Given the description of an element on the screen output the (x, y) to click on. 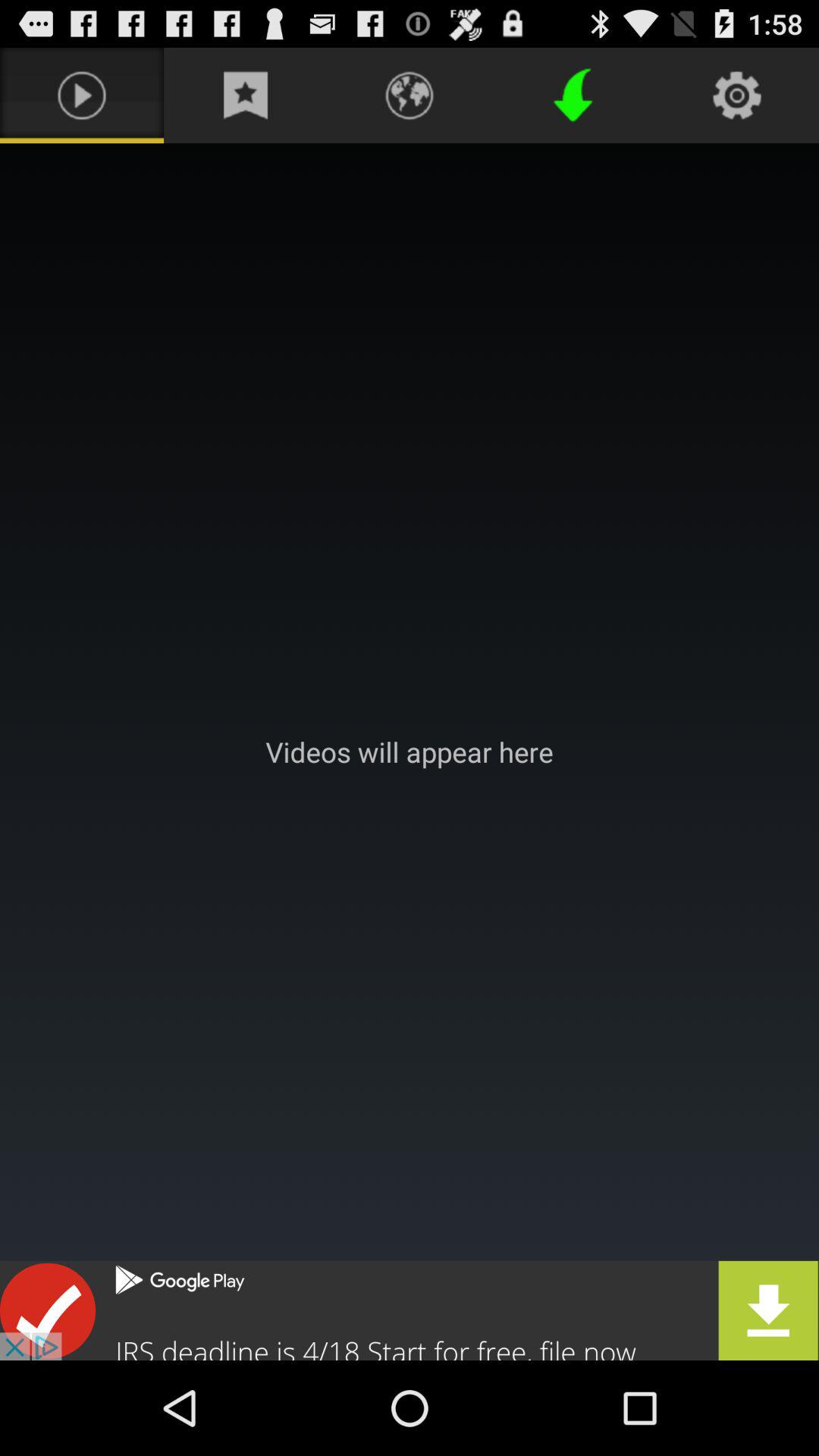
advertisement link (409, 1310)
